Given the description of an element on the screen output the (x, y) to click on. 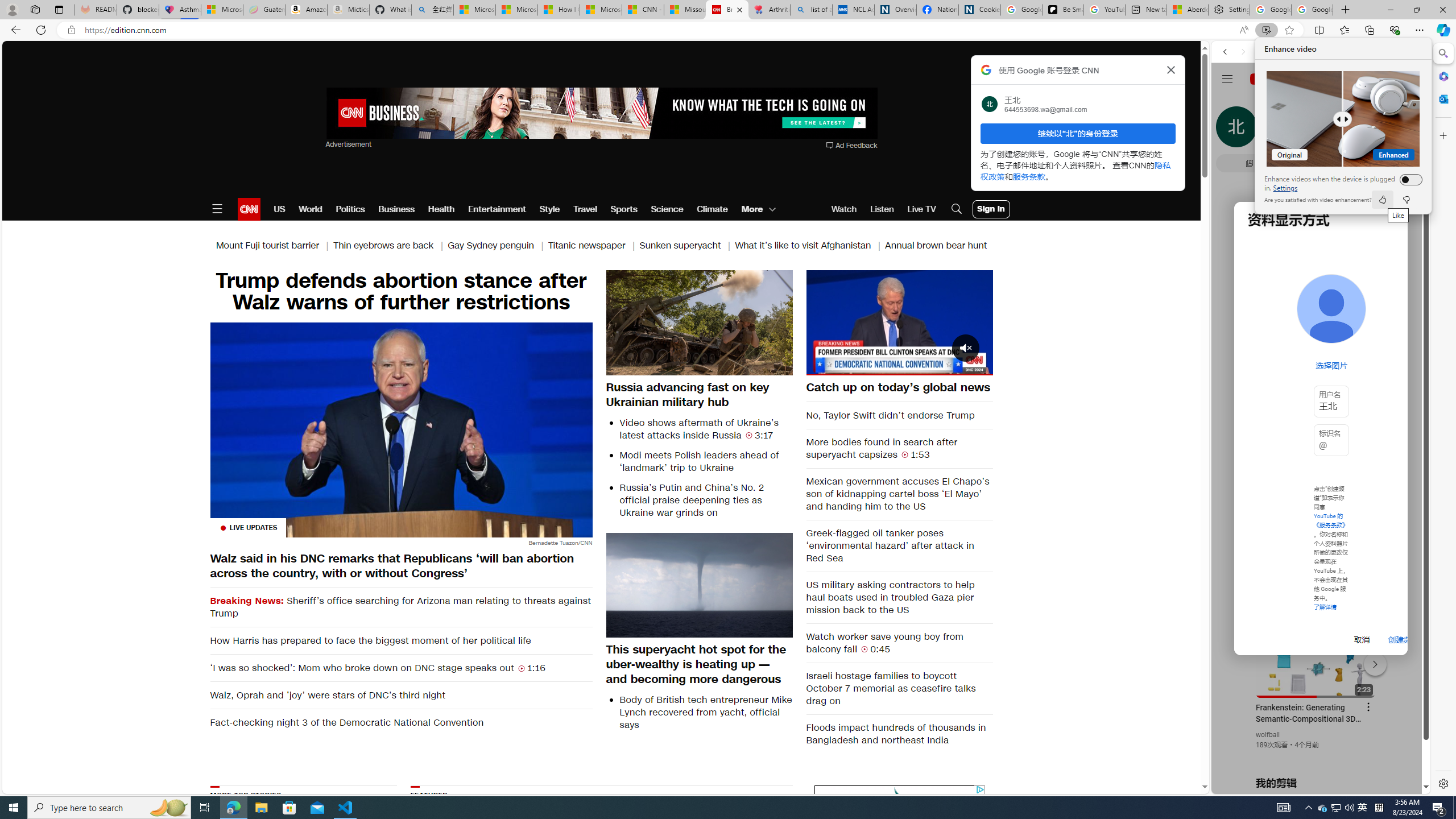
Like (1382, 199)
Tray Input Indicator - Chinese (Simplified, China) (1378, 807)
File Explorer (261, 807)
Annual brown bear hunt (936, 245)
